Given the description of an element on the screen output the (x, y) to click on. 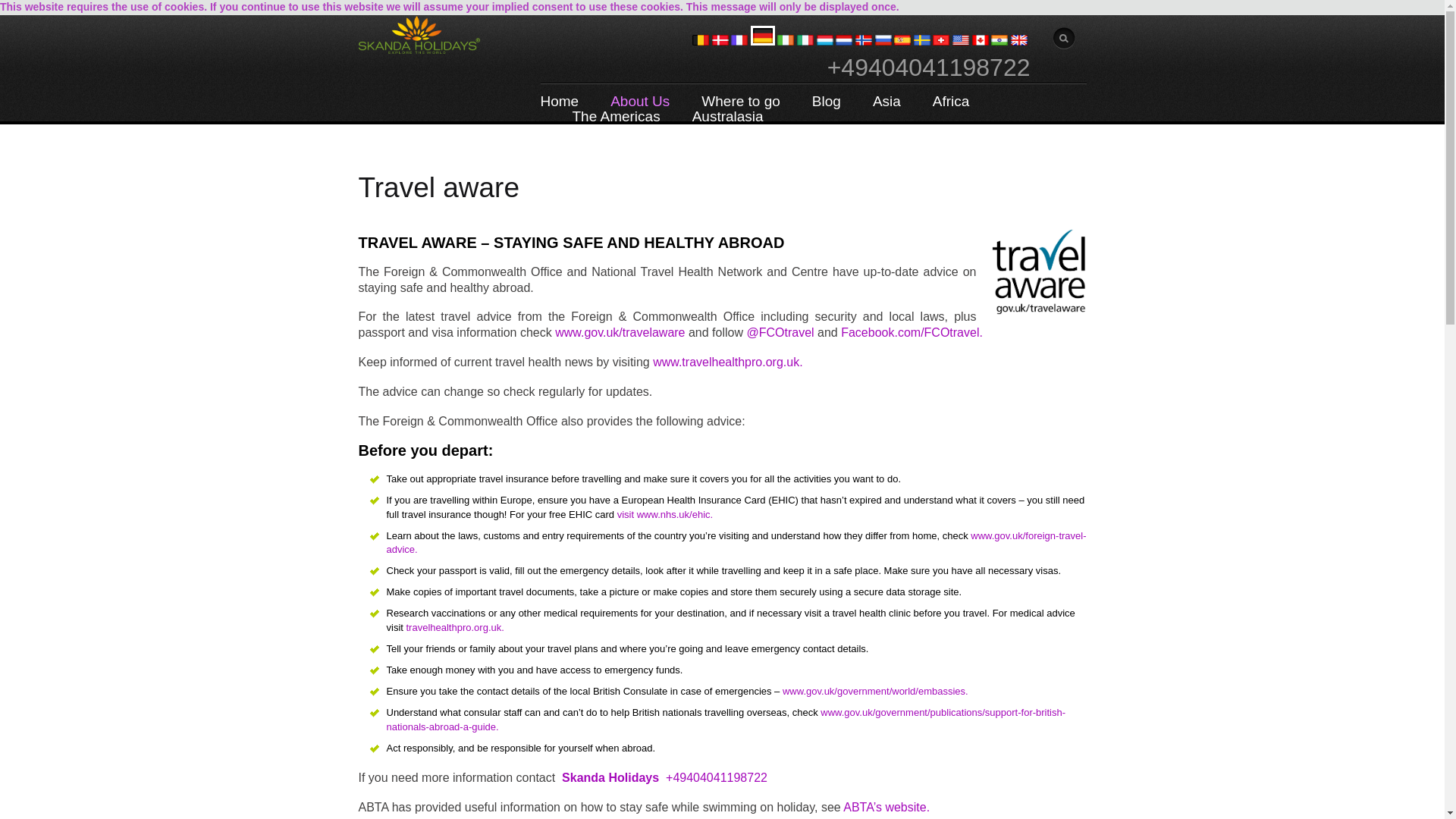
Canada (980, 41)
Asia (886, 89)
Luxembourg (824, 41)
United Kingdom (1018, 41)
Home (559, 89)
Netherlands (843, 41)
Italy (804, 41)
Where to go (740, 89)
Sweden (922, 41)
Switzerland (941, 41)
Norway (864, 41)
About Us (639, 89)
USA (960, 41)
Denmark (719, 41)
Russia (883, 41)
